Given the description of an element on the screen output the (x, y) to click on. 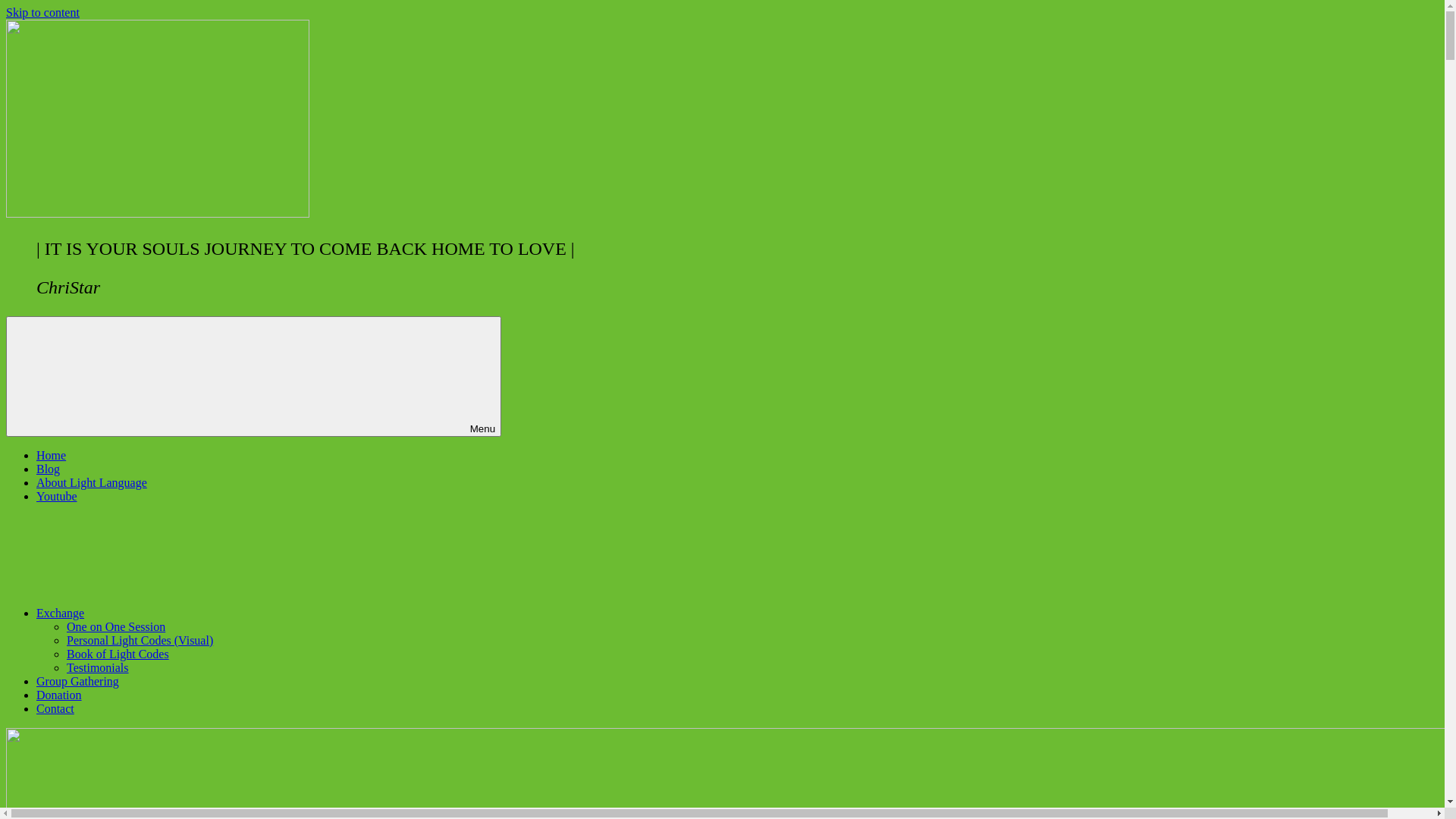
Skip to content Element type: text (42, 12)
Home Element type: text (50, 454)
Youtube Element type: text (56, 495)
Contact Element type: text (55, 708)
Book of Light Codes Element type: text (117, 653)
Personal Light Codes (Visual) Element type: text (139, 639)
Donation Element type: text (58, 694)
Exchange Element type: text (173, 612)
Blog Element type: text (47, 468)
Testimonials Element type: text (97, 667)
About Light Language Element type: text (91, 482)
Menu Element type: text (253, 376)
One on One Session Element type: text (115, 626)
Group Gathering Element type: text (77, 680)
